Given the description of an element on the screen output the (x, y) to click on. 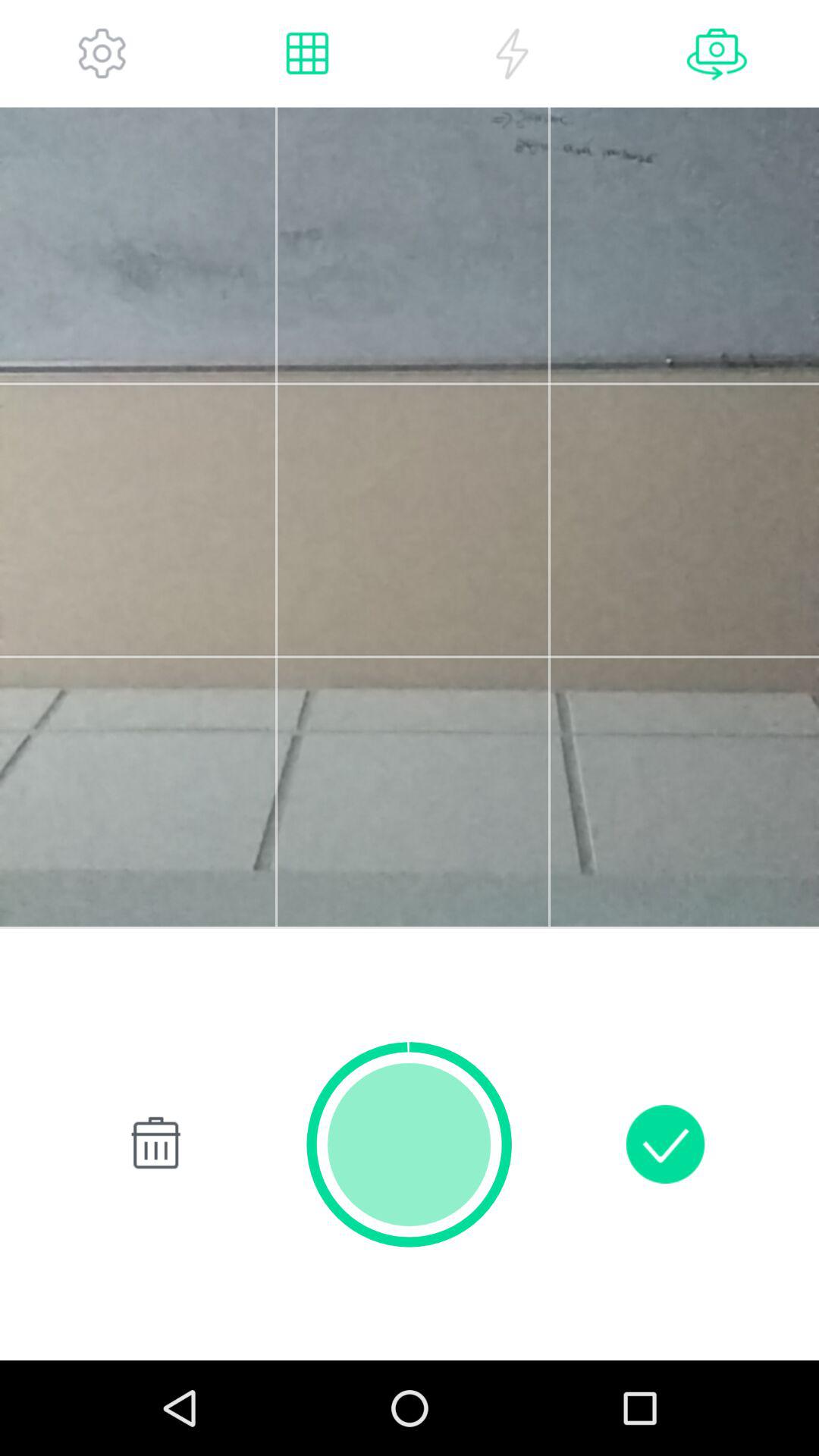
on/off flash (511, 53)
